Given the description of an element on the screen output the (x, y) to click on. 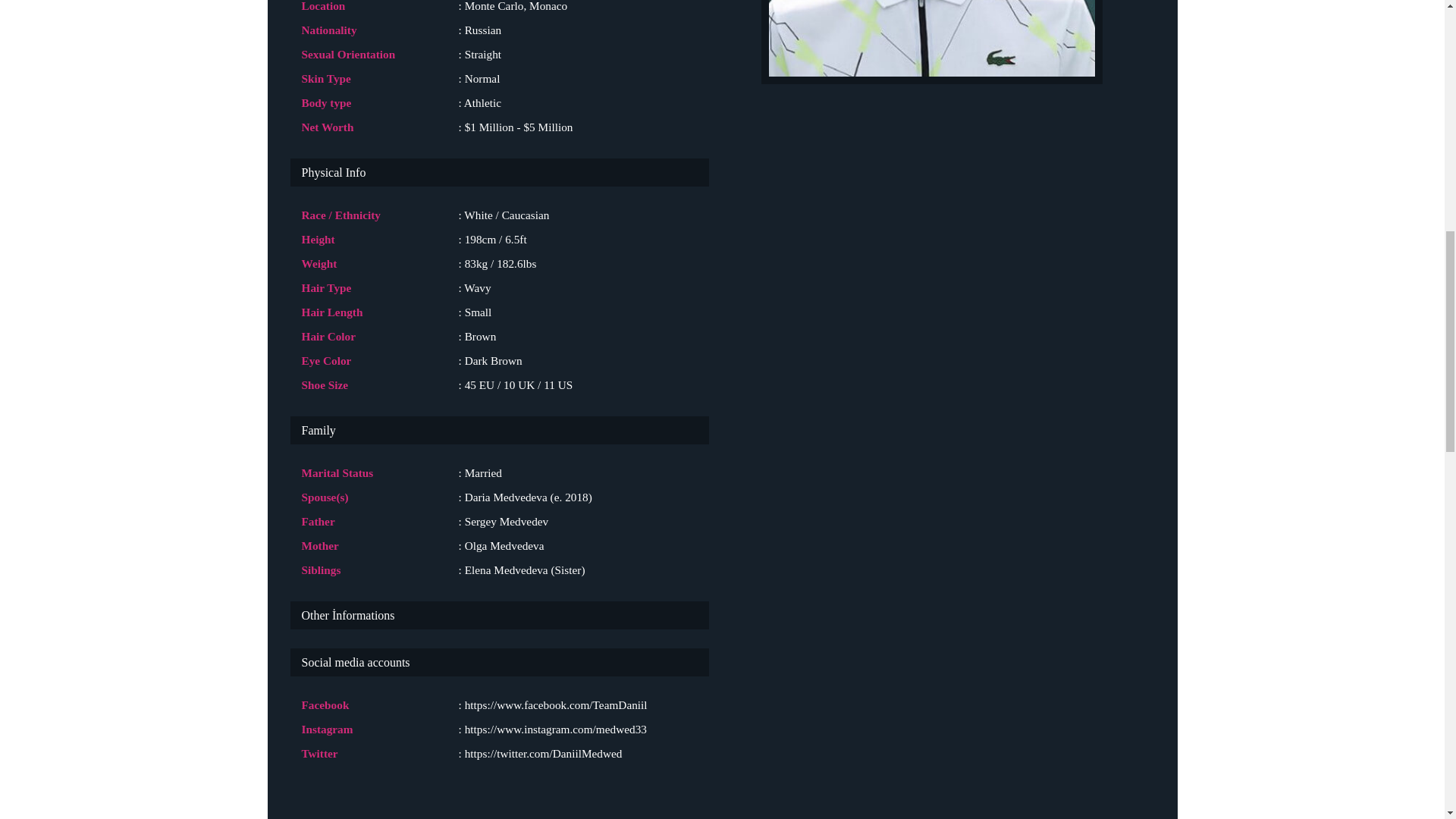
Medvedev (931, 42)
